Given the description of an element on the screen output the (x, y) to click on. 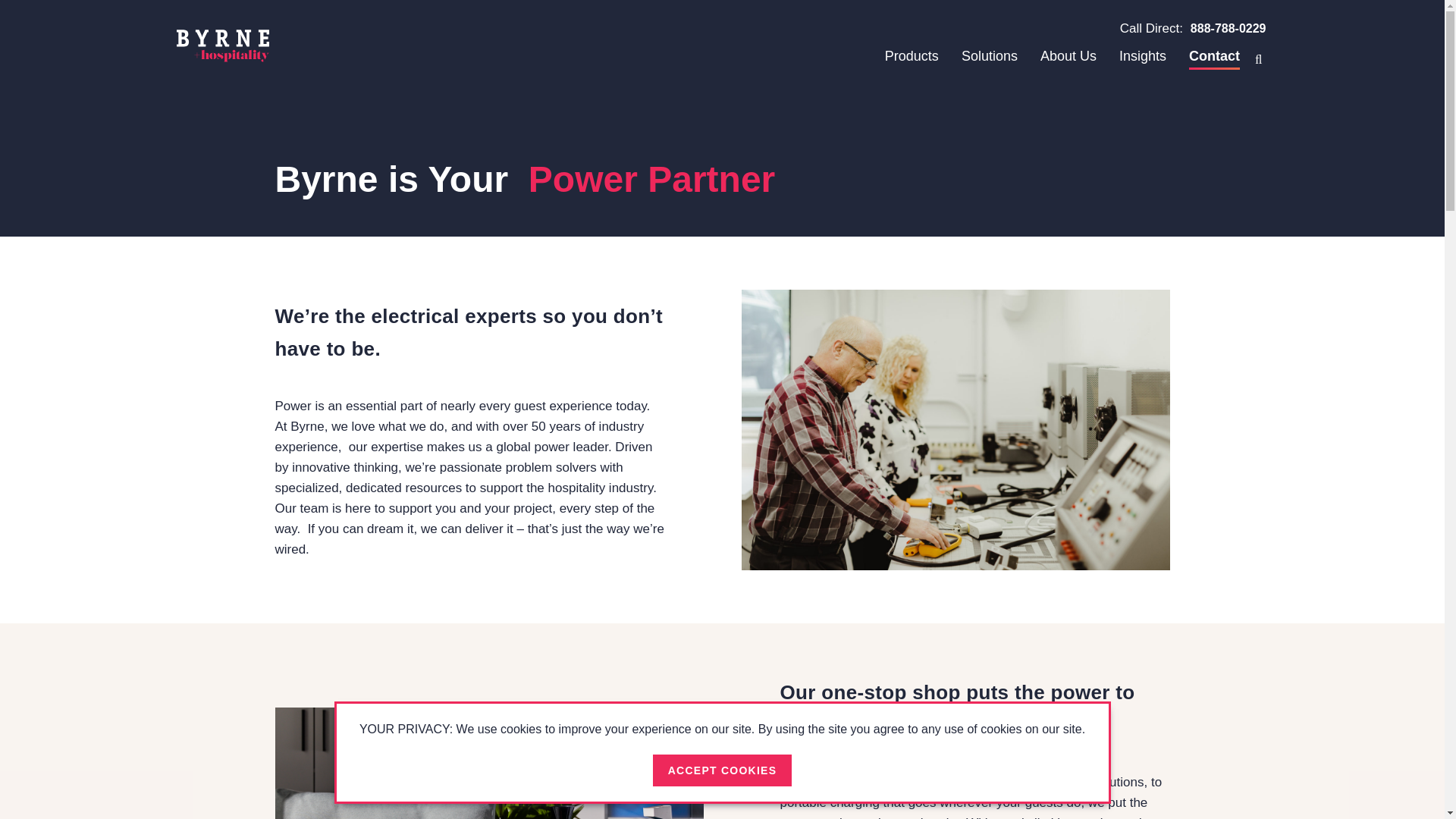
888-788-0229 (1228, 28)
Insights (1142, 55)
Solutions (988, 55)
Products (912, 55)
ACCEPT COOKIES (722, 770)
About Us (1068, 55)
Contact (1214, 59)
